Given the description of an element on the screen output the (x, y) to click on. 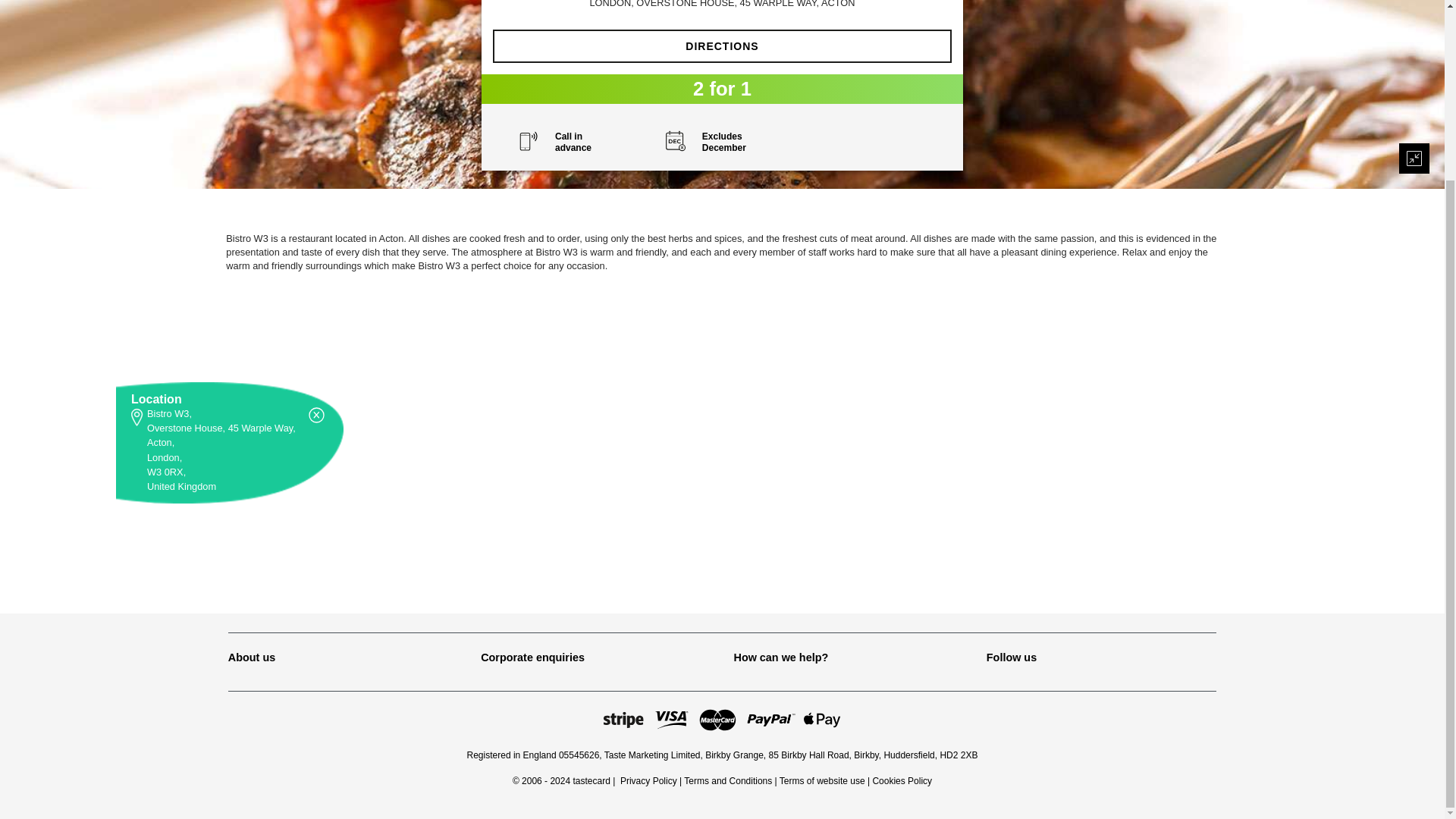
Privacy policy (648, 780)
DIRECTIONS (722, 46)
